Given the description of an element on the screen output the (x, y) to click on. 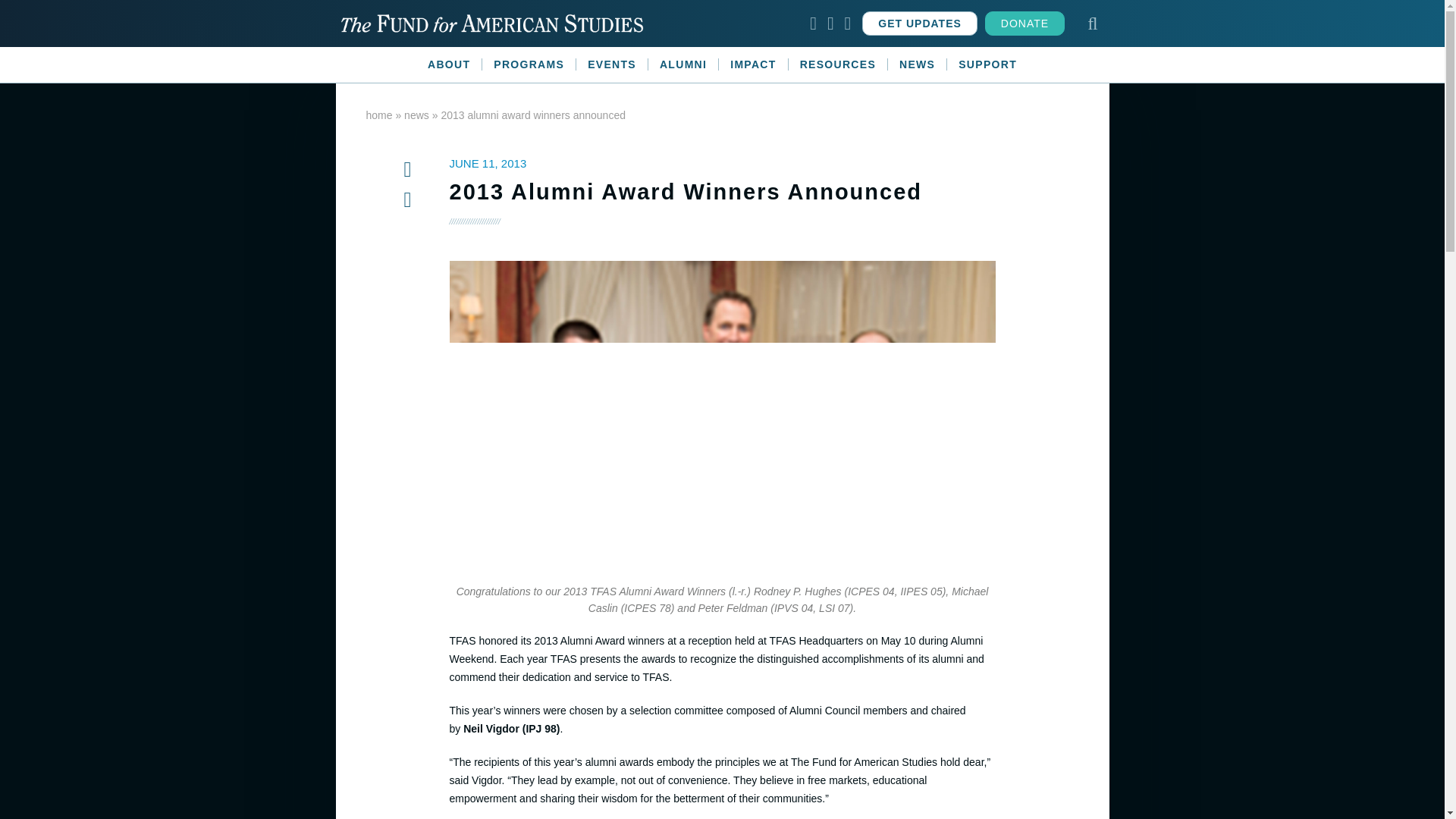
Donate (1024, 23)
IMPACT (753, 64)
Donate (1024, 23)
EVENTS (611, 64)
Get Updates (918, 23)
Get Updates (918, 23)
SUPPORT (987, 64)
ALUMNI (683, 64)
PROGRAMS (528, 64)
RESOURCES (838, 64)
